Given the description of an element on the screen output the (x, y) to click on. 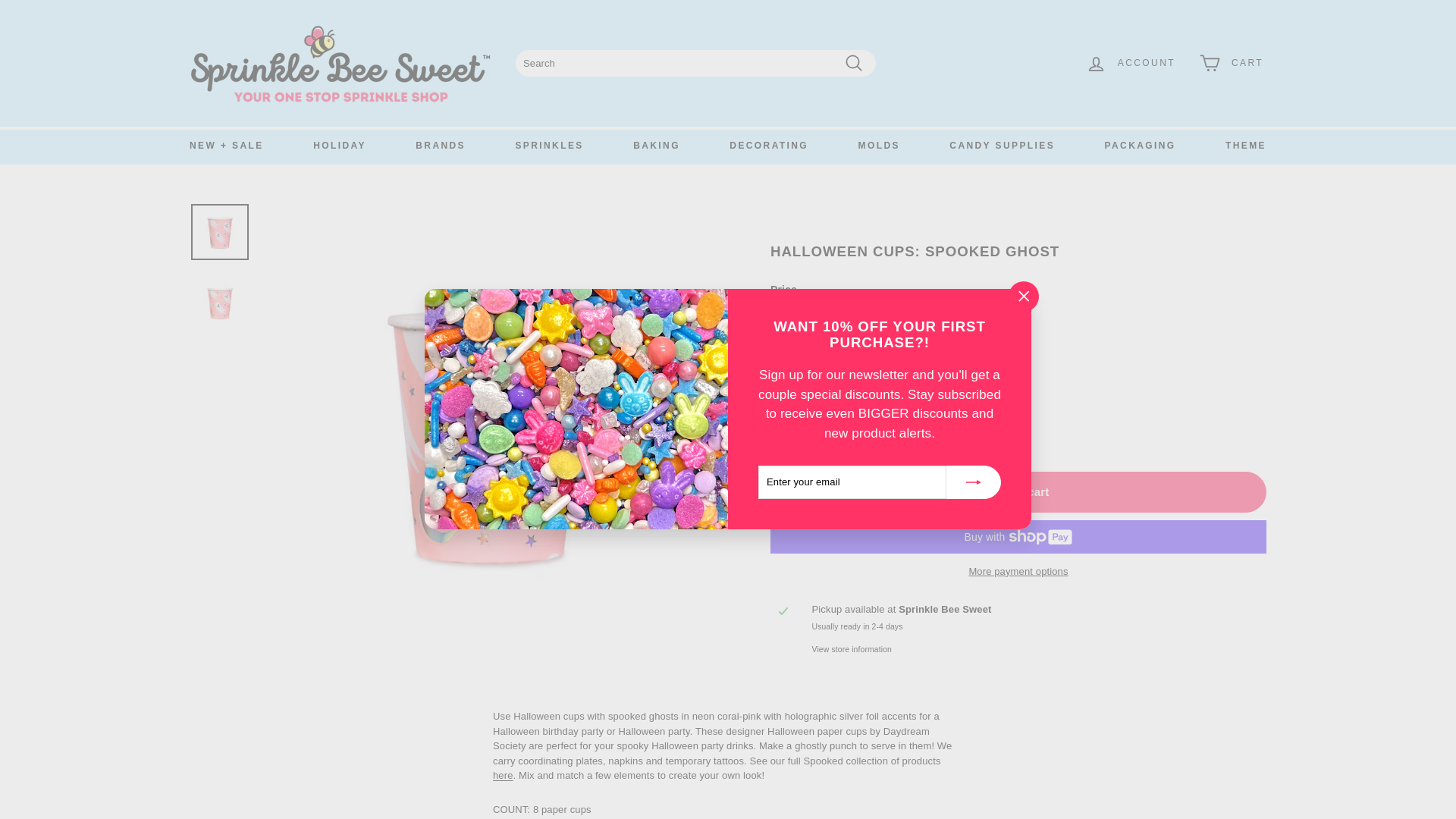
HOLIDAY (339, 145)
Spooked Halloween party goods (503, 775)
ACCOUNT (1131, 62)
